Given the description of an element on the screen output the (x, y) to click on. 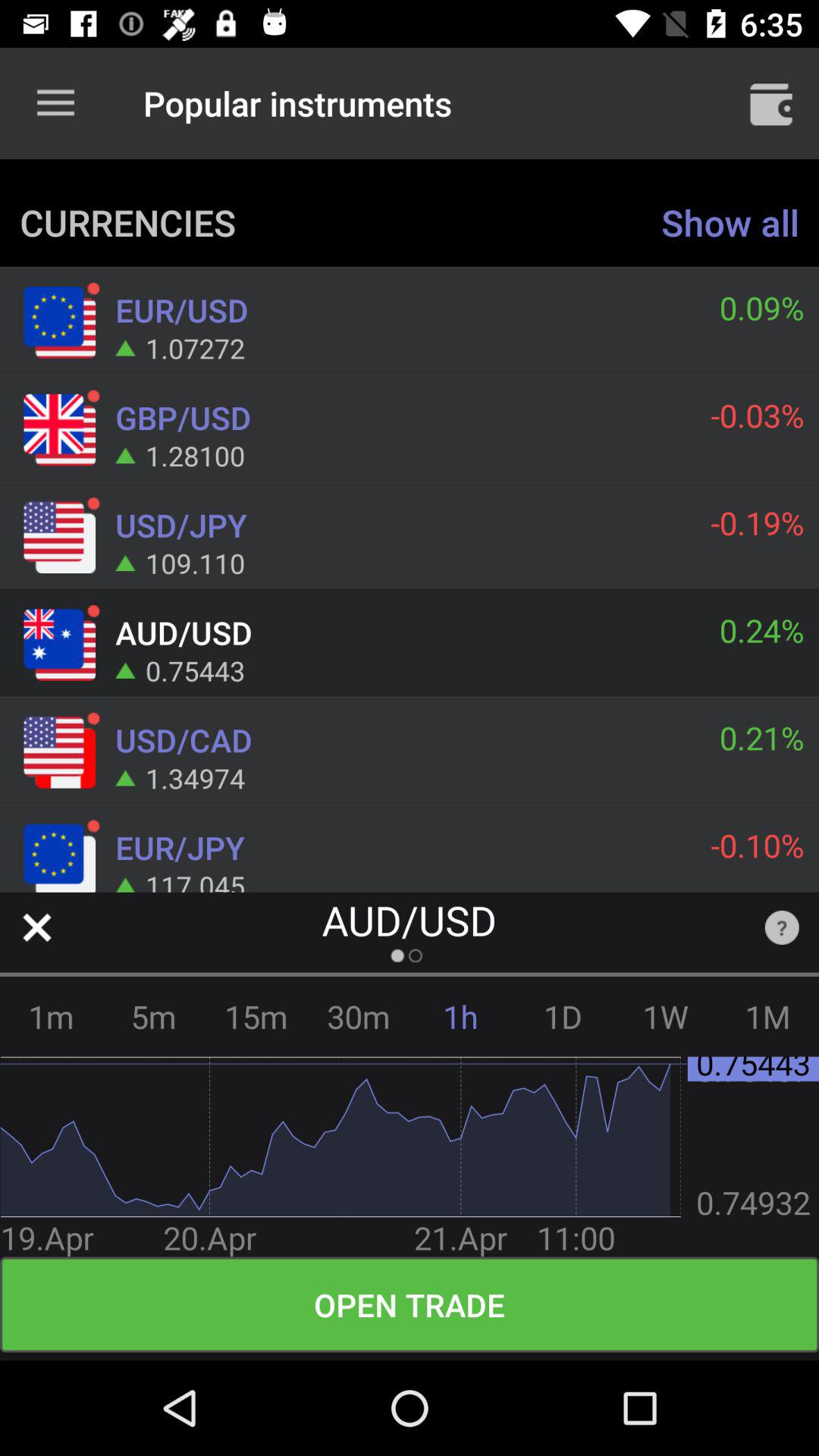
press the item to the right of the popular instruments icon (771, 103)
